Given the description of an element on the screen output the (x, y) to click on. 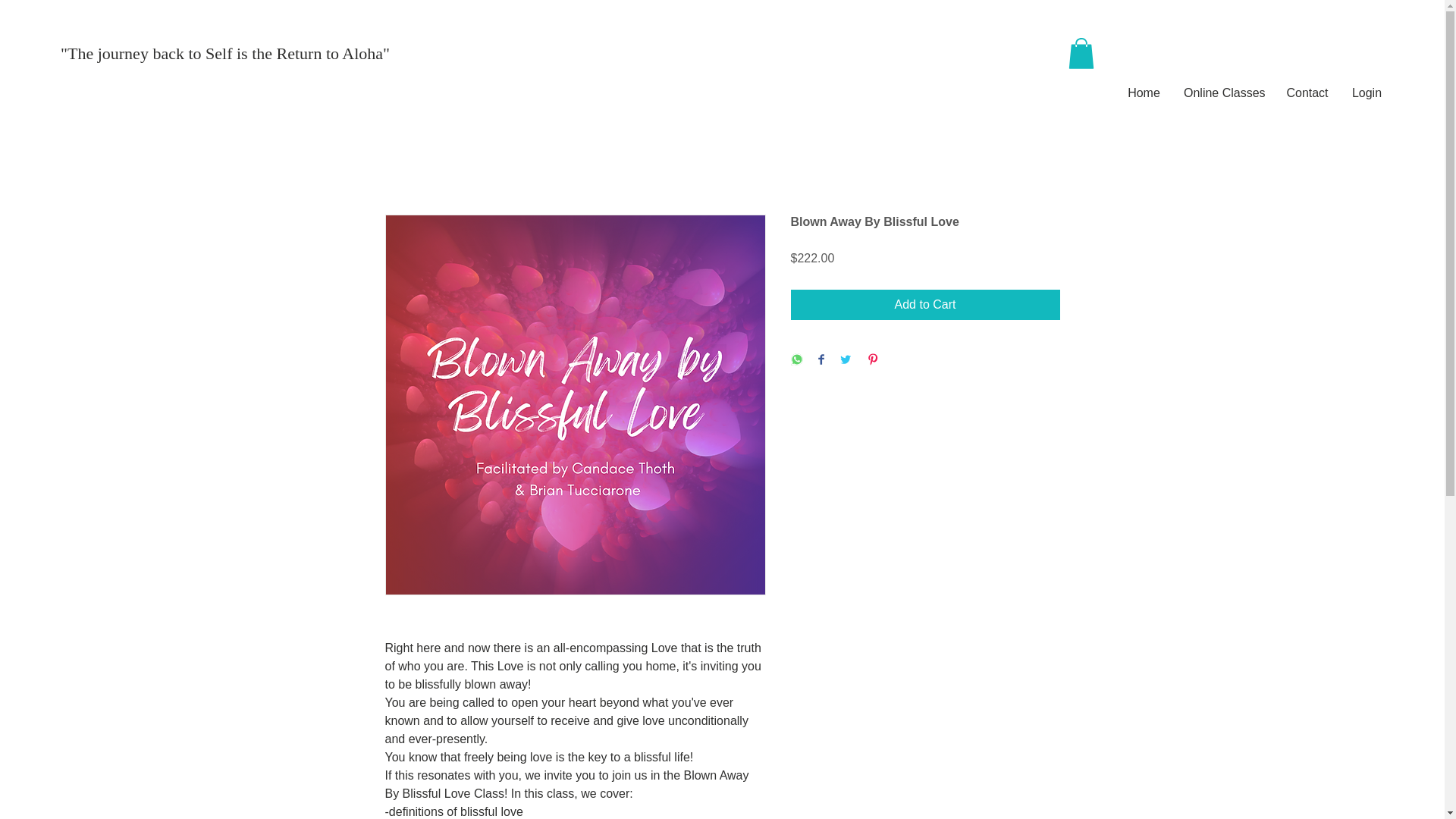
Add to Cart (924, 304)
"The journey back to Self is the Return to Aloha" (229, 53)
Online Classes (1223, 92)
Home (1143, 92)
Contact (1307, 92)
Login (1366, 92)
